Given the description of an element on the screen output the (x, y) to click on. 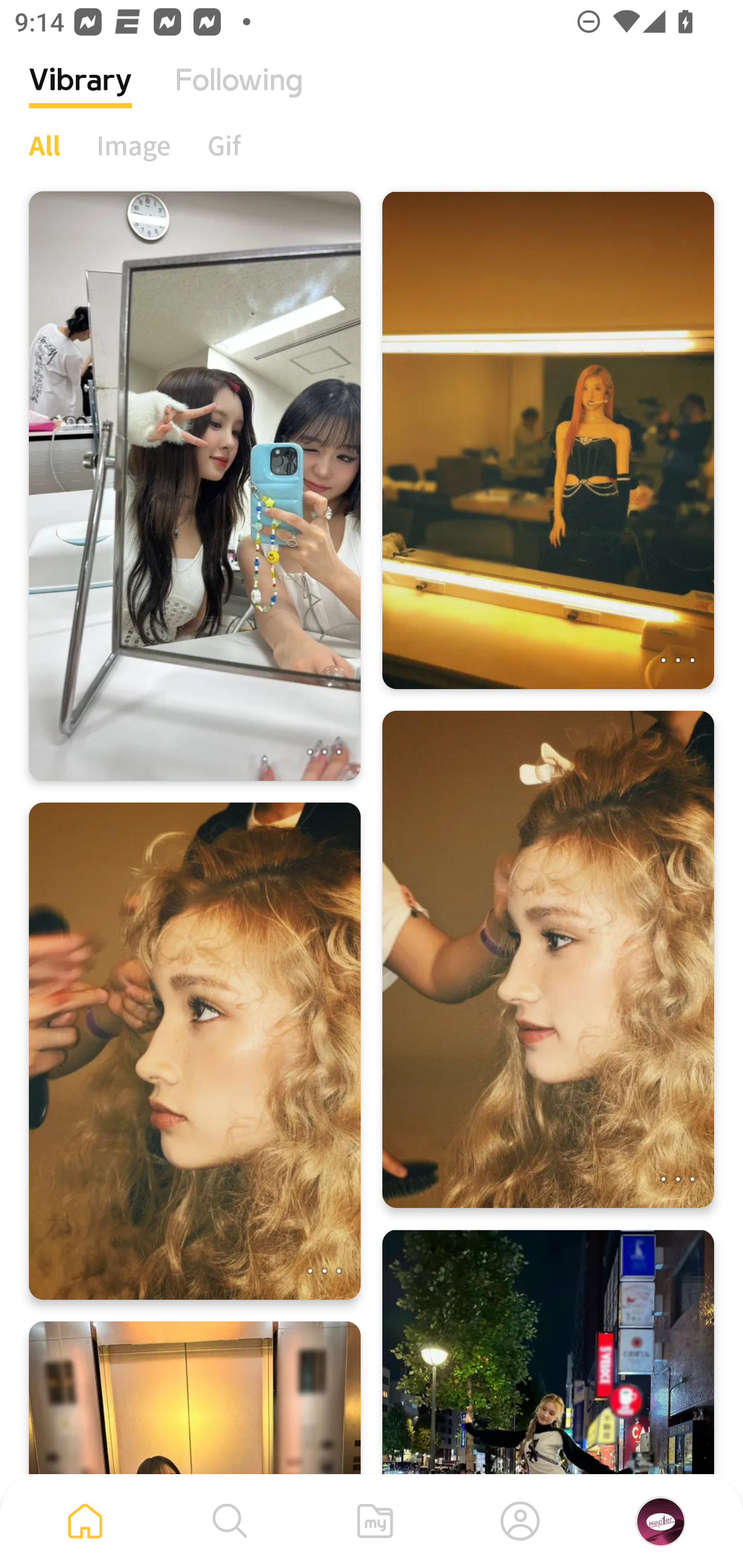
Vibrary (80, 95)
Following (239, 95)
All (44, 145)
Image (133, 145)
Gif (223, 145)
